Given the description of an element on the screen output the (x, y) to click on. 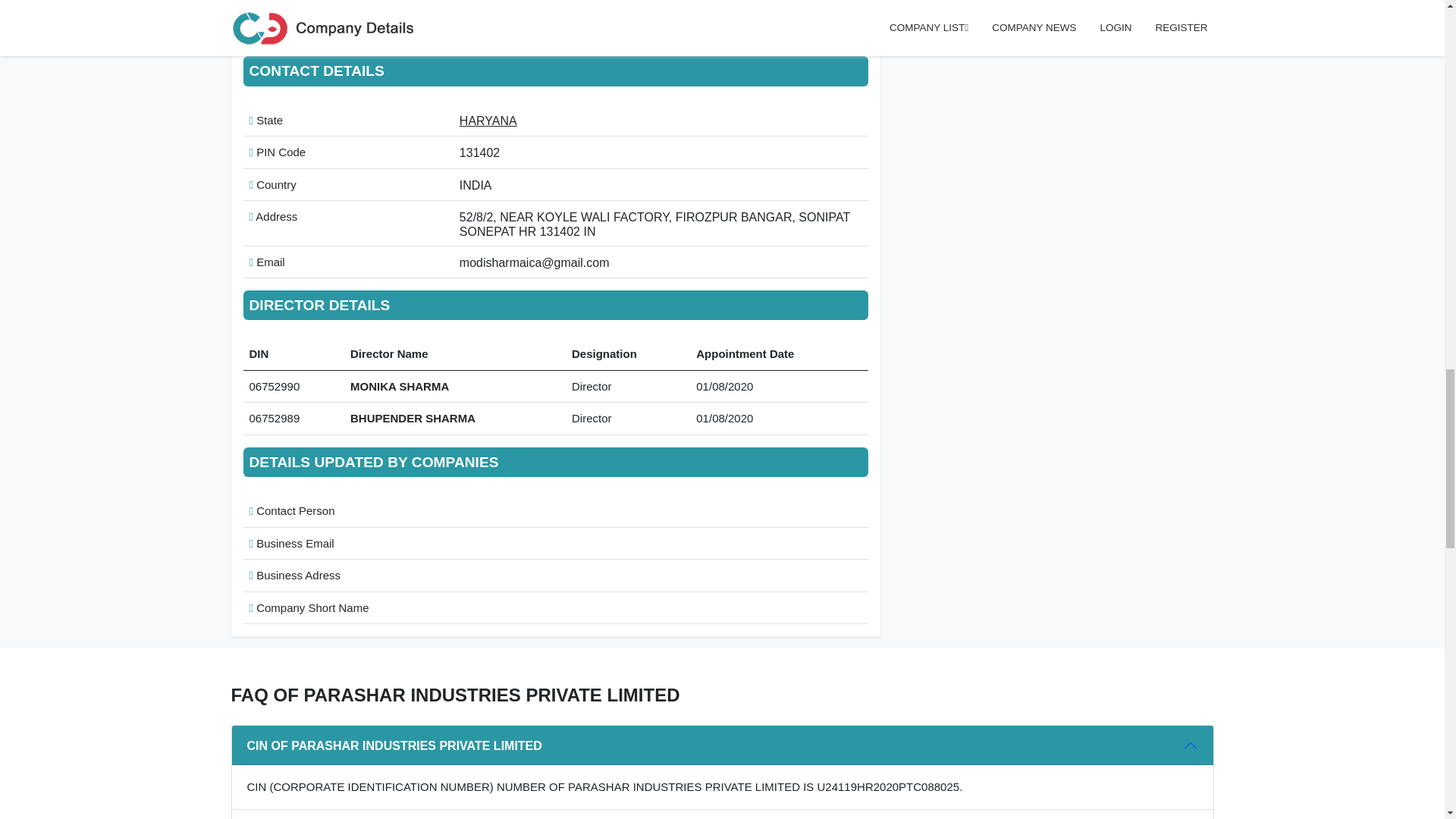
State (265, 119)
PIN Code (276, 151)
HARYANA (488, 119)
Latest Date of Balance Sheet (326, 27)
